Given the description of an element on the screen output the (x, y) to click on. 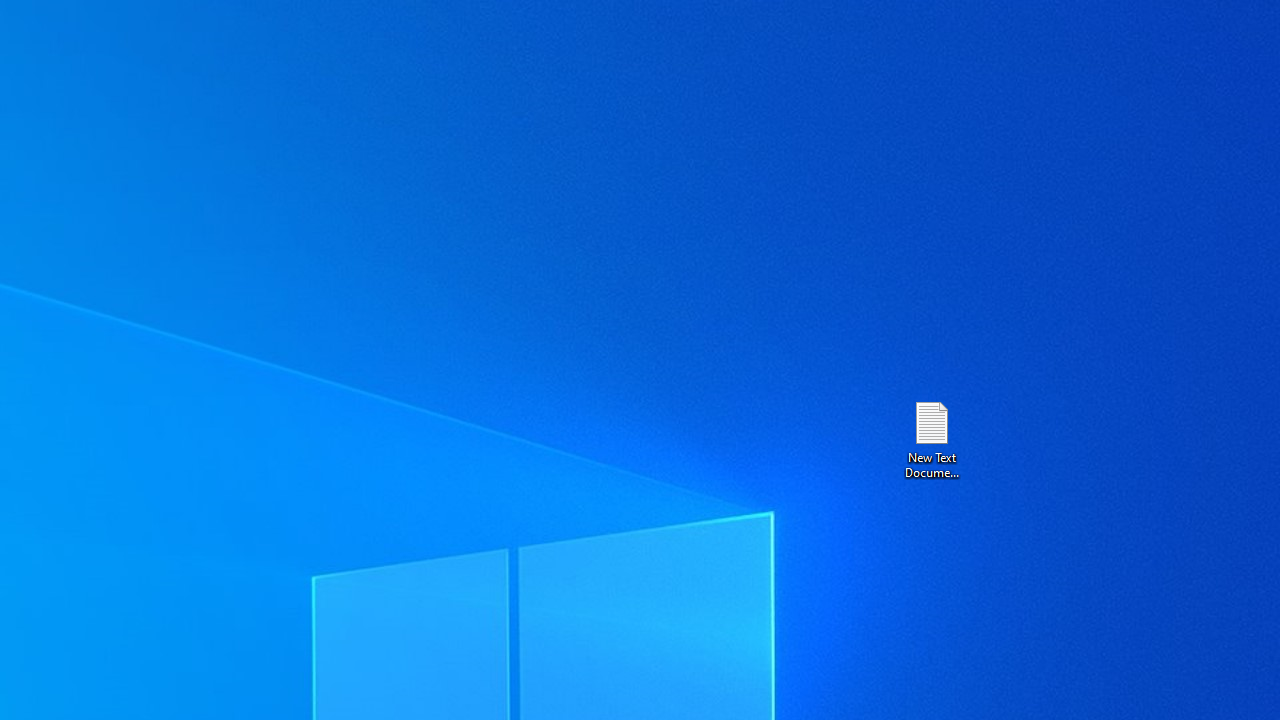
New Text Document (2) (931, 438)
